Given the description of an element on the screen output the (x, y) to click on. 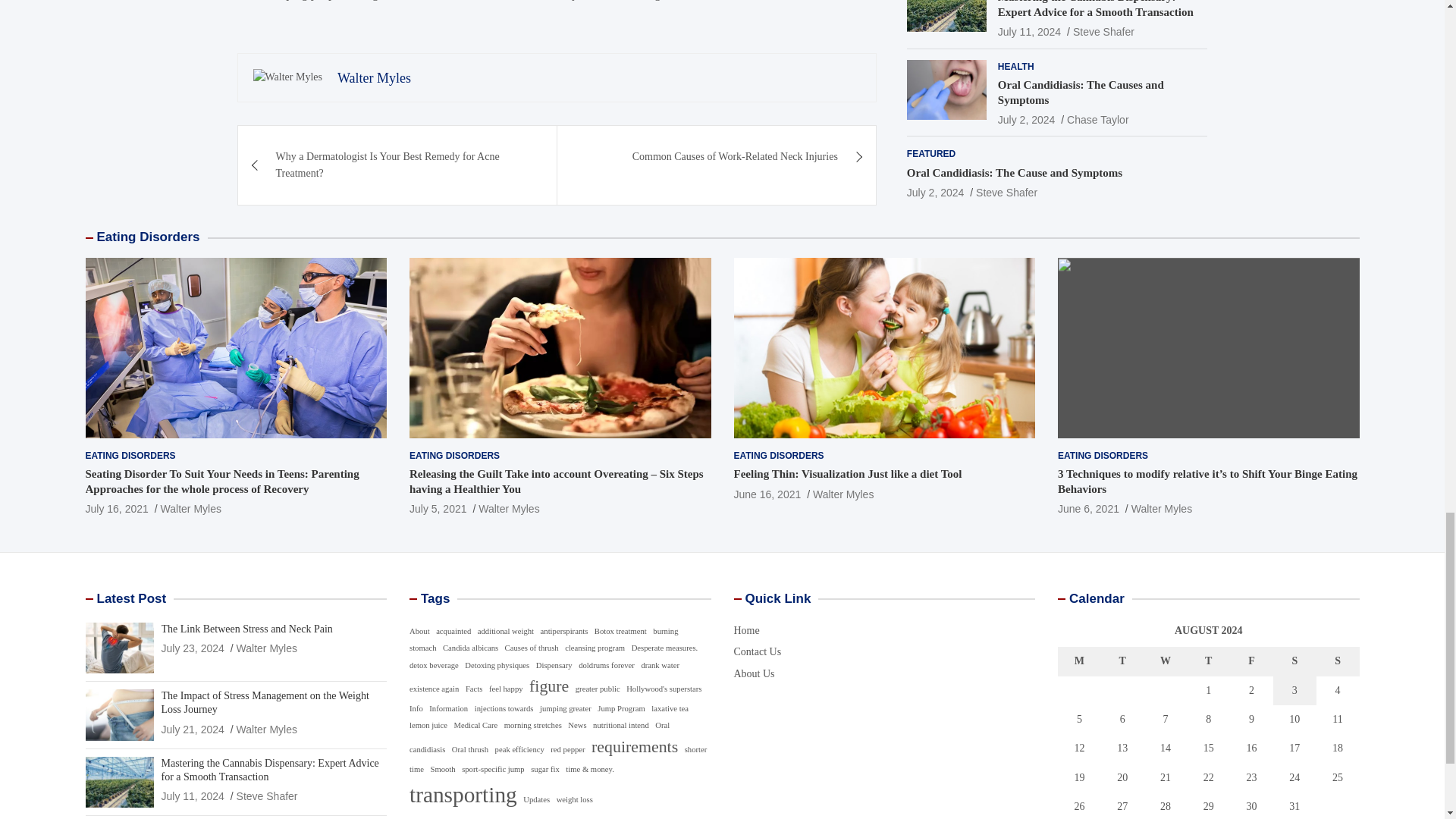
The Link Between Stress and Neck Pain (192, 648)
Common Causes of Work-Related Neck Injuries (716, 157)
The Impact of Stress Management on the Weight Loss Journey (192, 729)
Why a Dermatologist Is Your Best Remedy for Acne Treatment? (397, 165)
Feeling Thin: Visualization Just like a diet Tool (767, 494)
Walter Myles (373, 77)
